Given the description of an element on the screen output the (x, y) to click on. 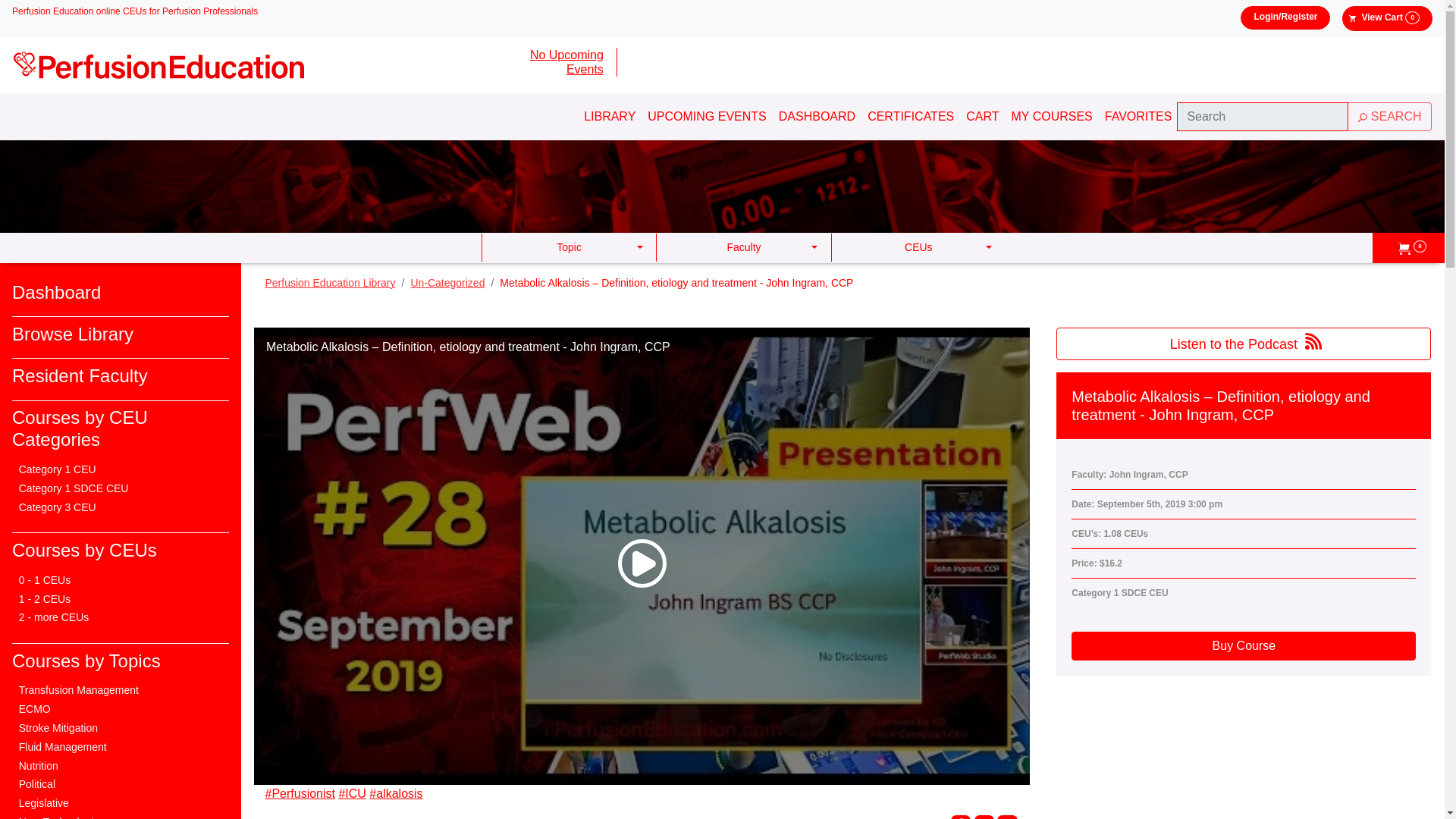
CART (982, 116)
No Upcoming Events (548, 61)
UPCOMING EVENTS (706, 116)
LIBRARY (608, 116)
SEARCH (1389, 116)
MY COURSES (1052, 116)
CERTIFICATES (910, 116)
DASHBOARD (817, 116)
View Cart 0 (1387, 18)
FAVORITES (1138, 116)
Faculty (742, 247)
Topic (568, 247)
